Given the description of an element on the screen output the (x, y) to click on. 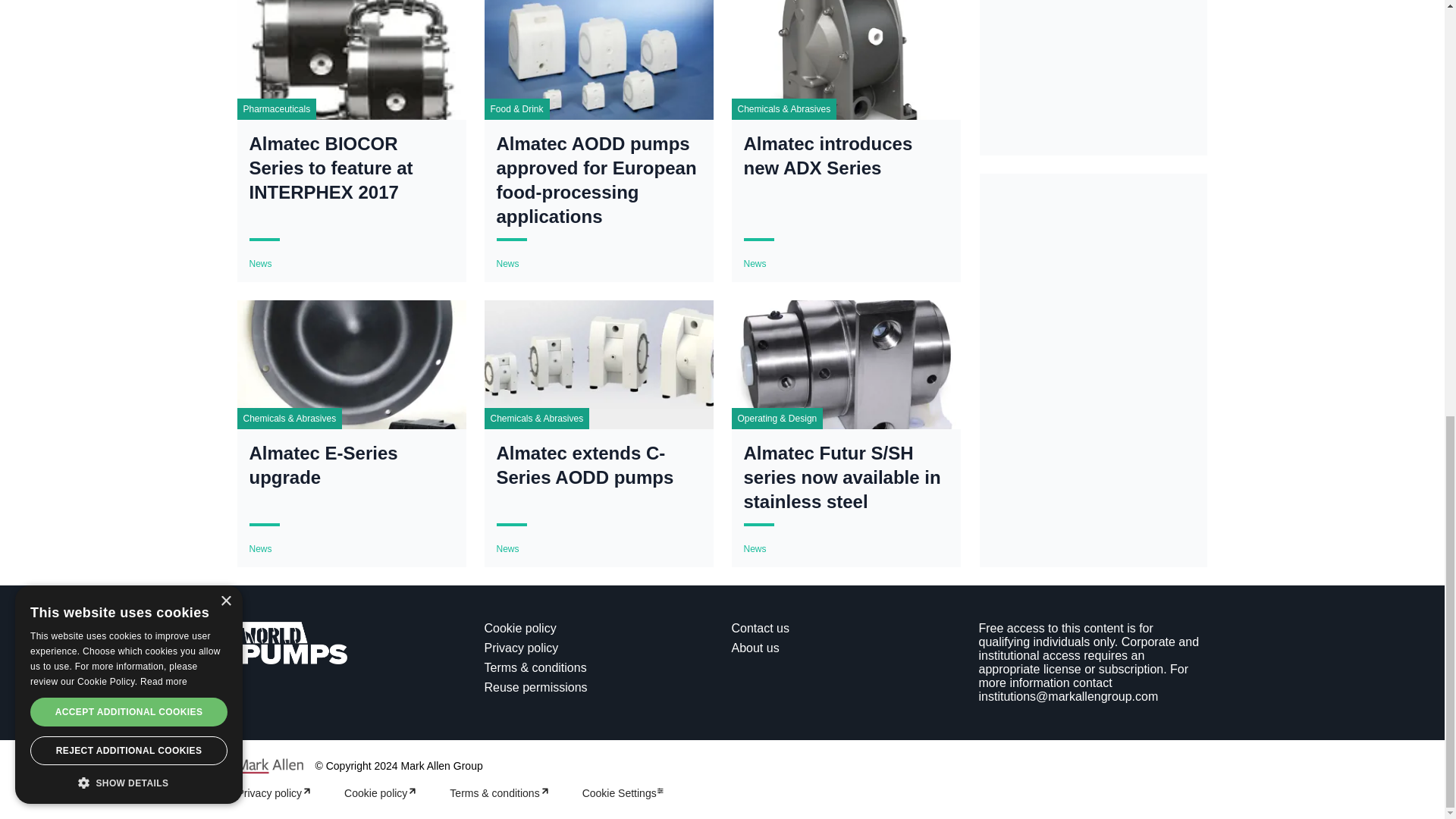
3rd party ad content (1093, 286)
